Given the description of an element on the screen output the (x, y) to click on. 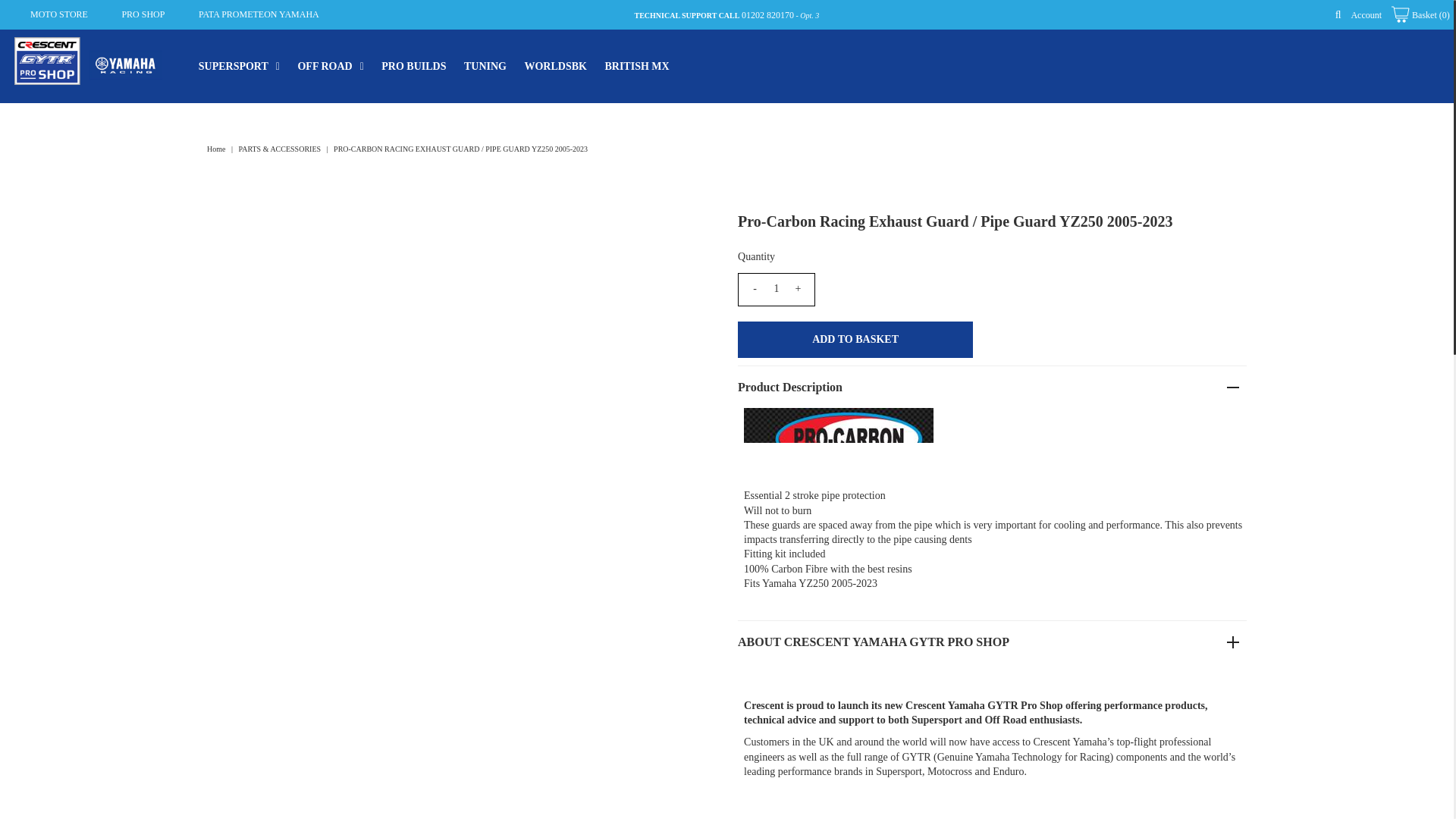
Add to Basket (855, 339)
Home (217, 148)
tel:01202820170 (767, 14)
